Given the description of an element on the screen output the (x, y) to click on. 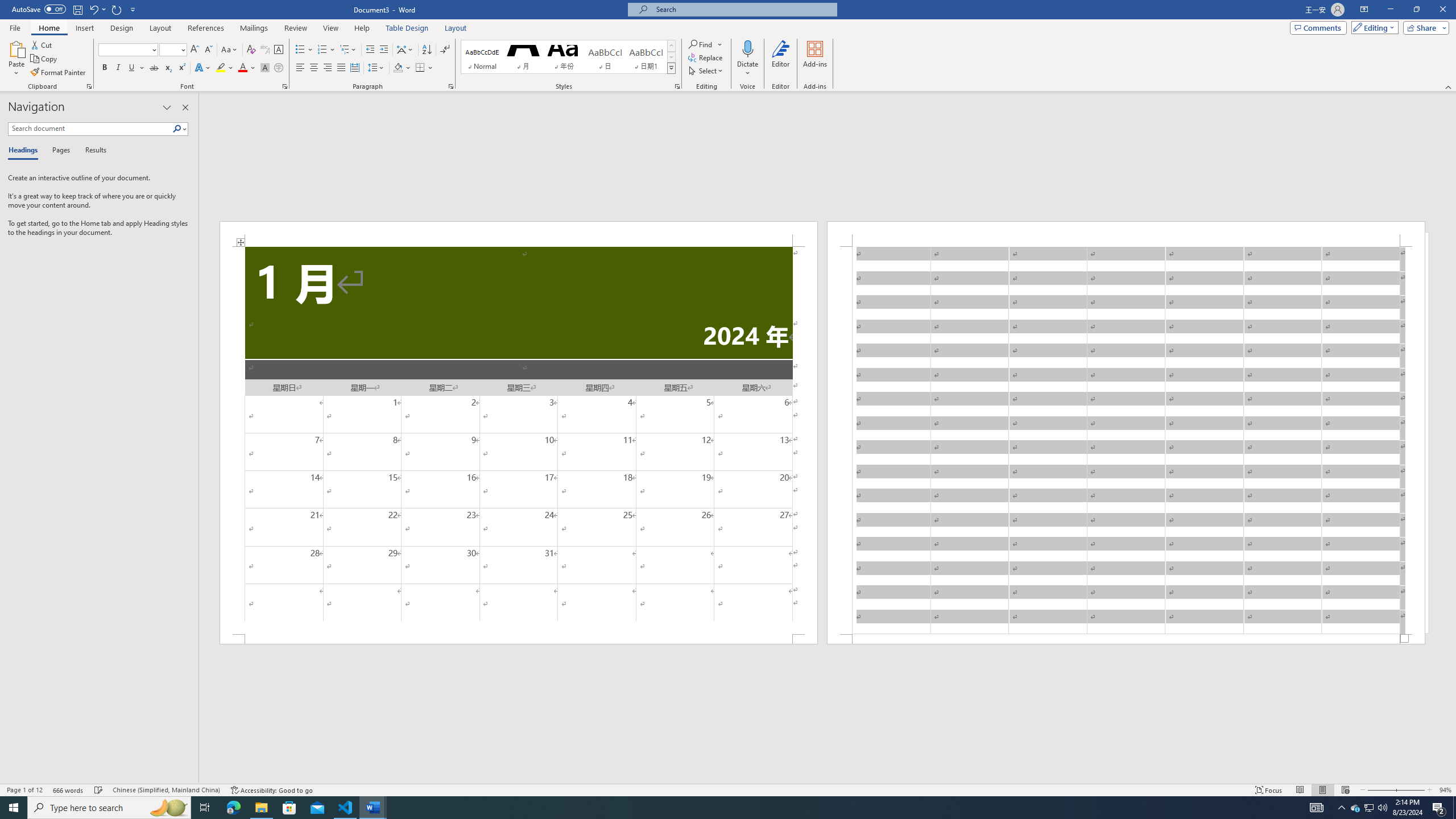
Shading RGB(0, 0, 0) (397, 67)
Print Layout (1322, 790)
Read Mode (1299, 790)
Multilevel List (347, 49)
View (330, 28)
Superscript (180, 67)
Row Down (670, 56)
Font (128, 49)
Font Size (172, 49)
Paragraph... (450, 85)
Page 1 content (518, 439)
Editor (780, 58)
Web Layout (1344, 790)
Table Design (407, 28)
Layout (455, 28)
